Given the description of an element on the screen output the (x, y) to click on. 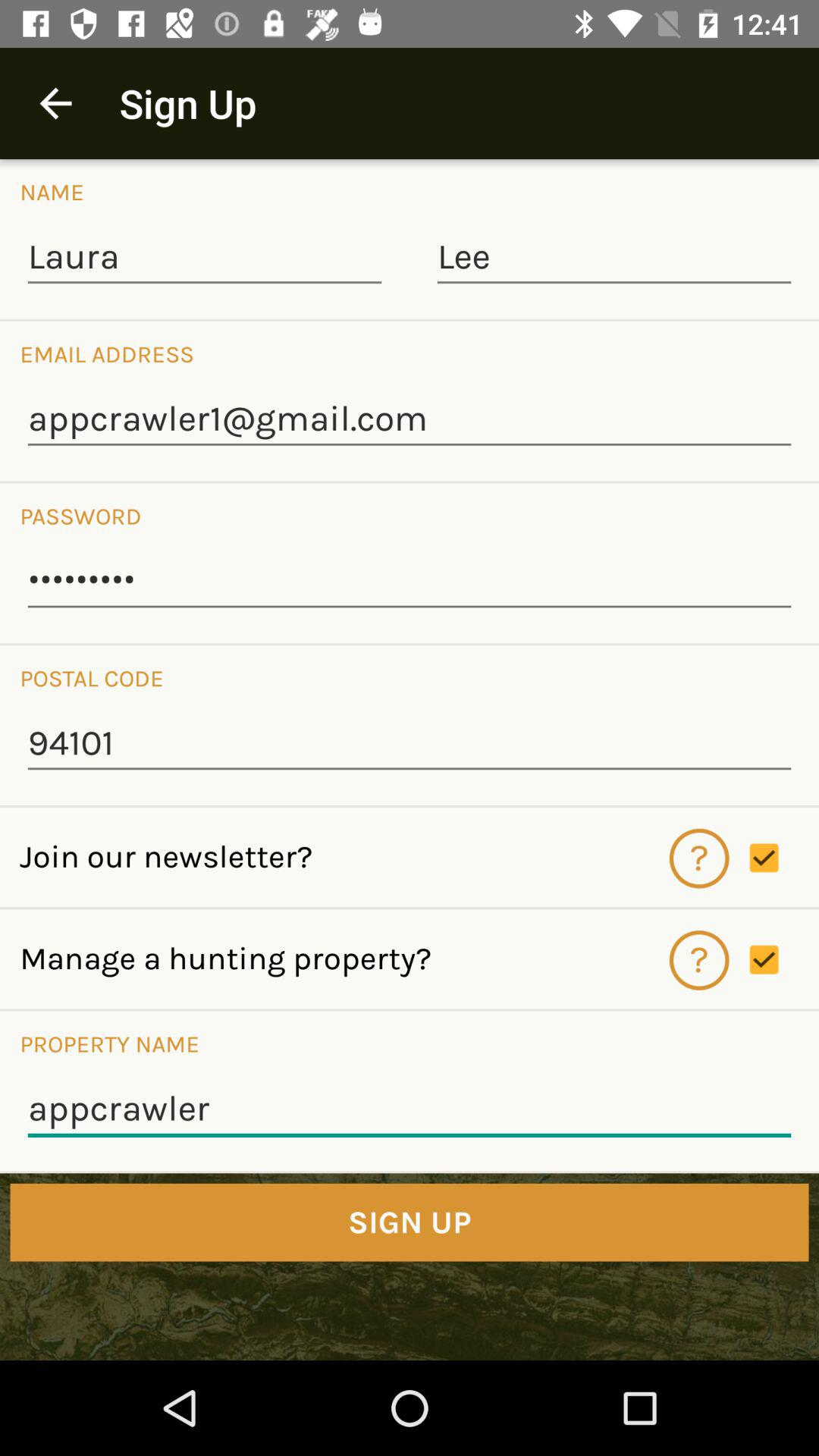
press icon to the left of the sign up (55, 103)
